Given the description of an element on the screen output the (x, y) to click on. 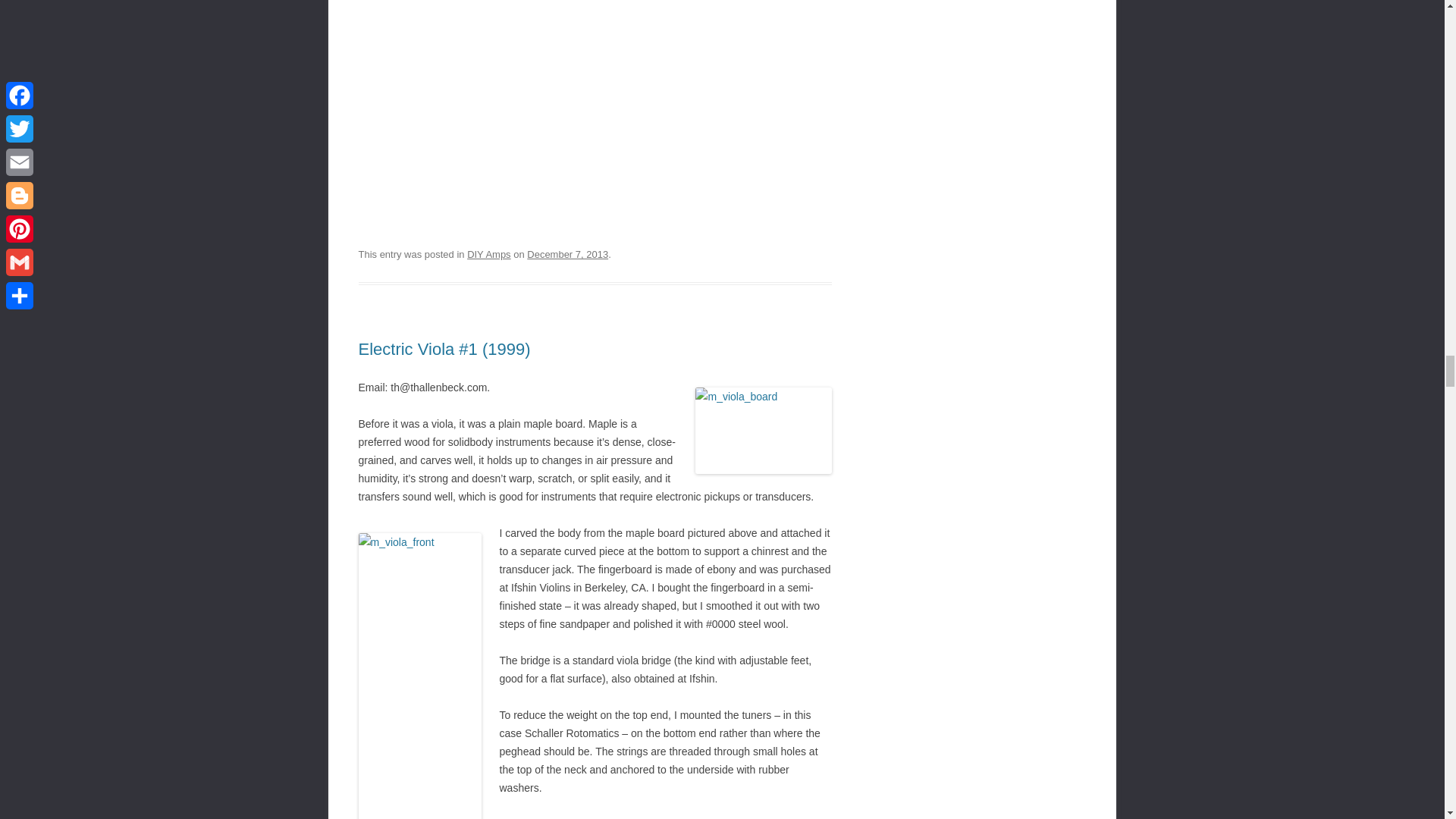
2:09 pm (567, 254)
